Given the description of an element on the screen output the (x, y) to click on. 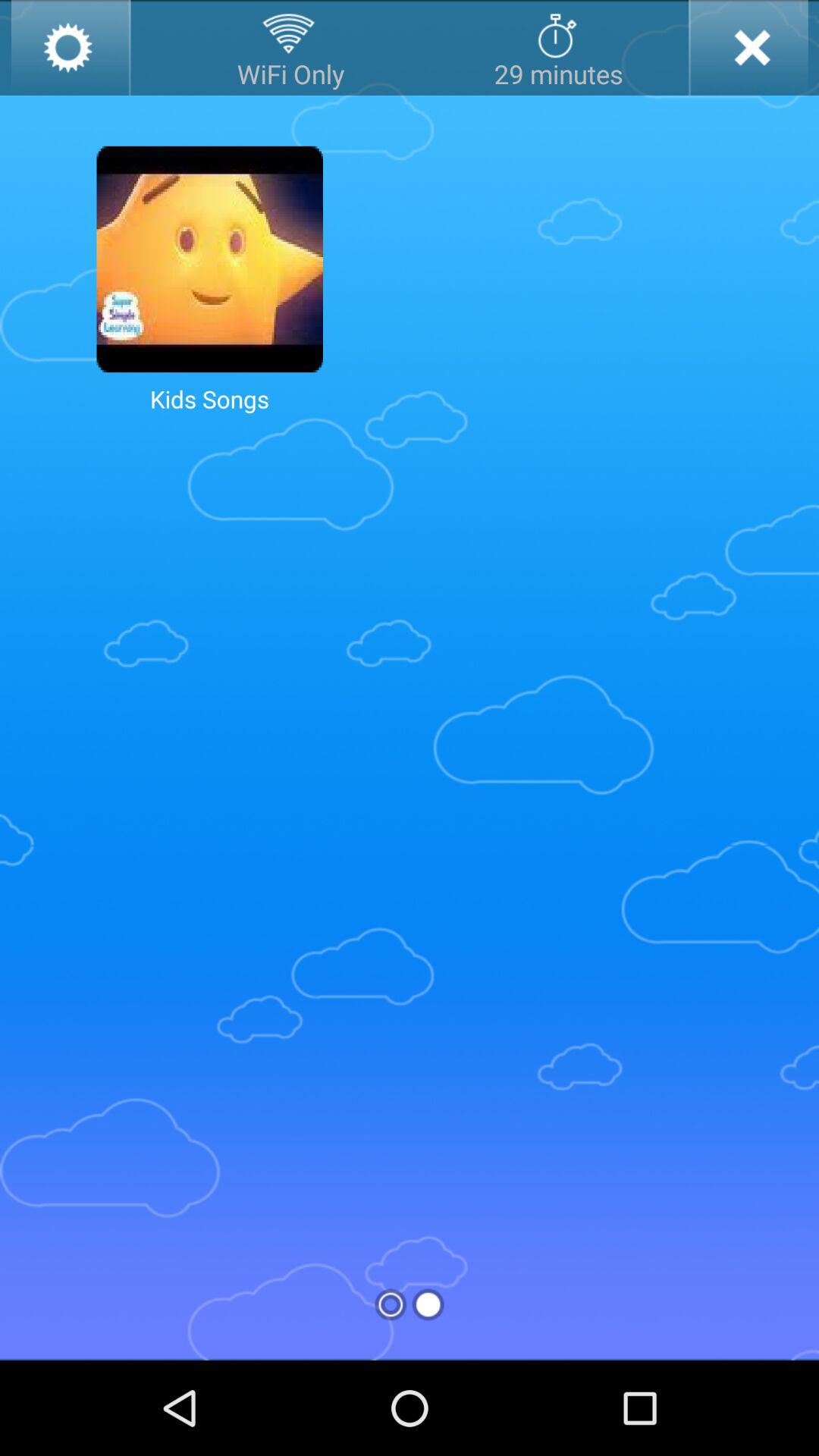
play a kids song (209, 259)
